Given the description of an element on the screen output the (x, y) to click on. 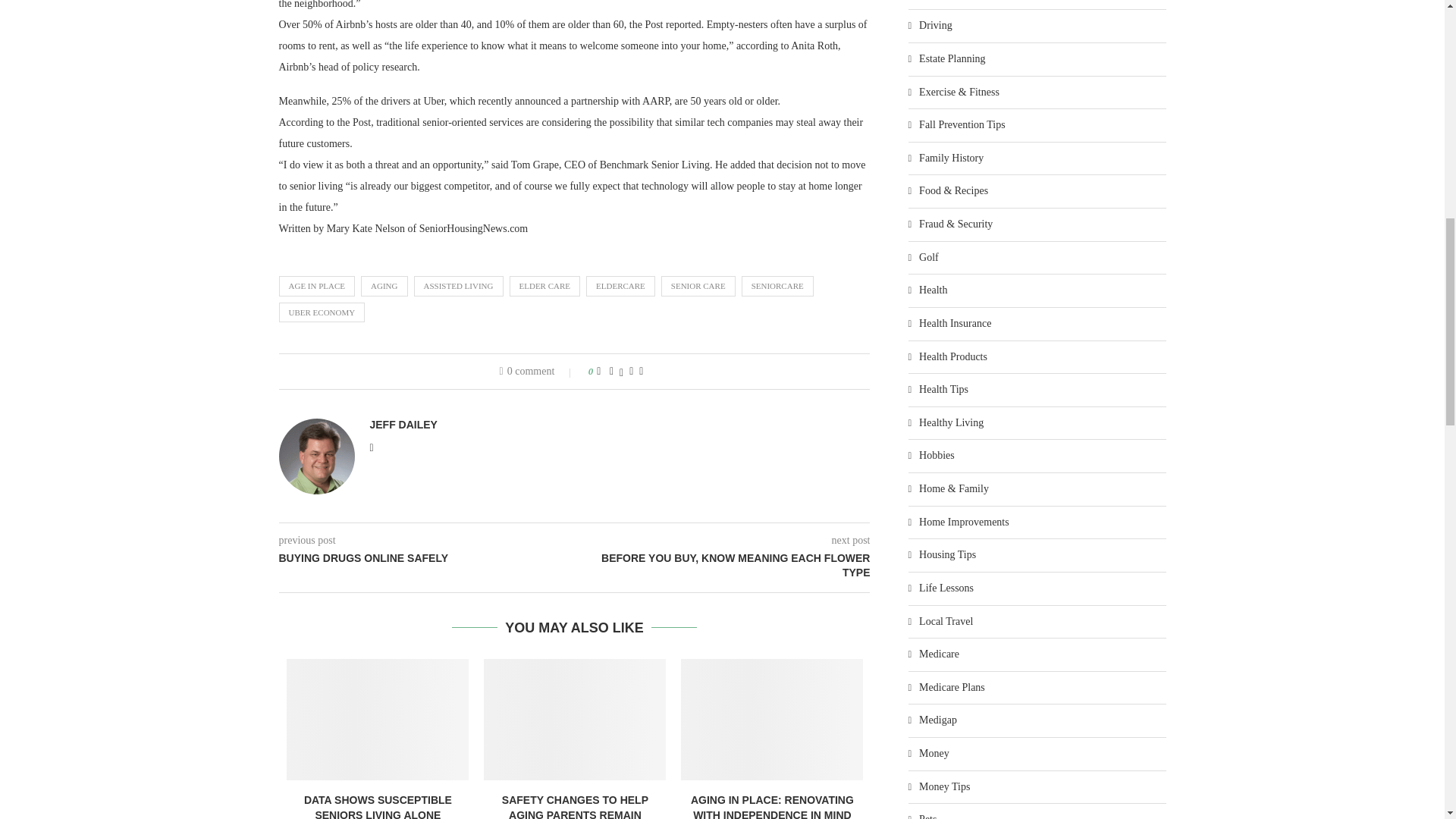
Aging in place: Renovating with independence in mind (772, 719)
Author Jeff Dailey (403, 424)
Data Shows Susceptible Seniors Living Alone (377, 719)
Safety Changes To Help Aging Parents Remain Independent (574, 719)
